Given the description of an element on the screen output the (x, y) to click on. 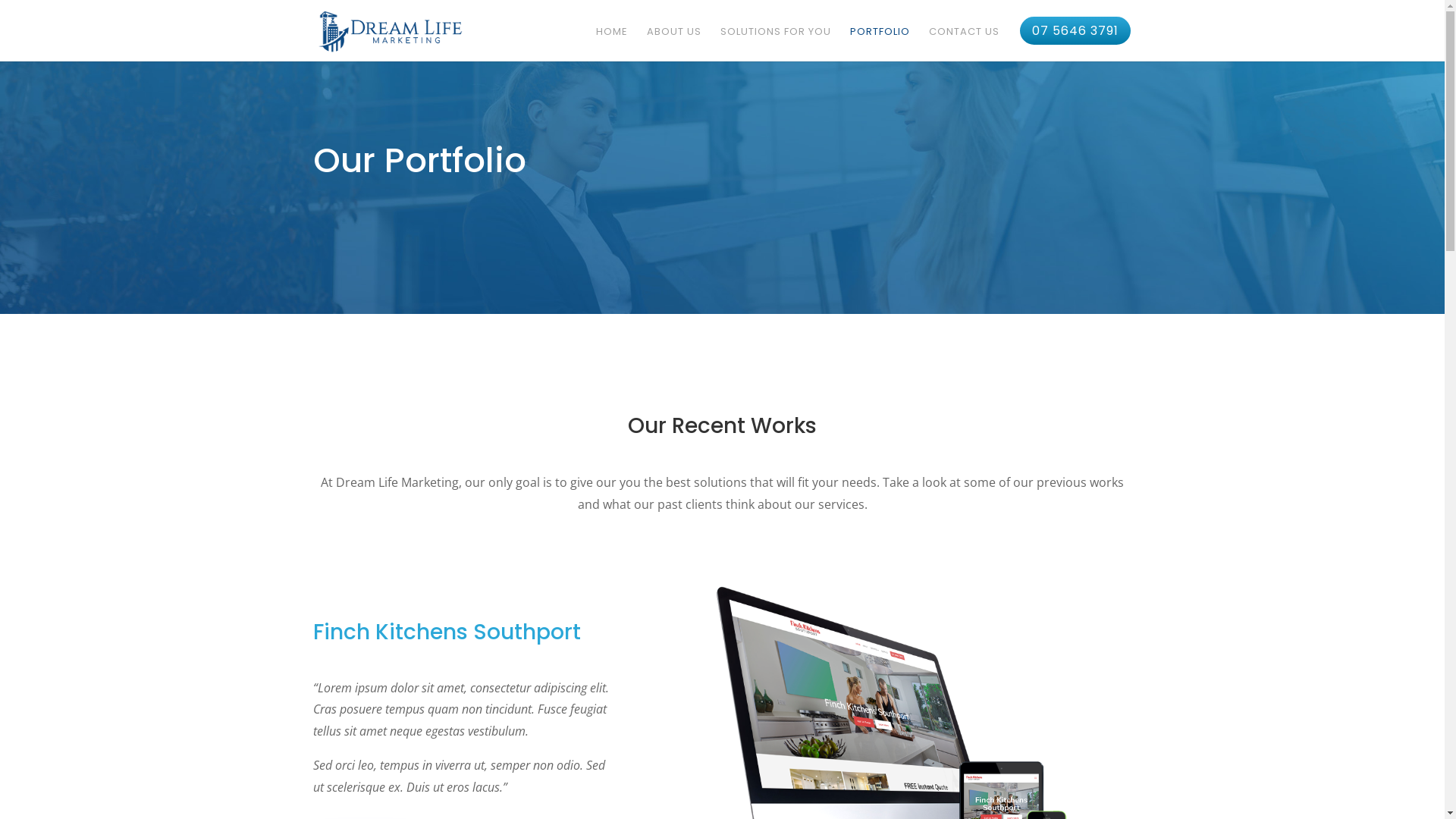
CONTACT US Element type: text (963, 39)
SOLUTIONS FOR YOU Element type: text (775, 39)
07 5646 3791 Element type: text (1074, 38)
ABOUT US Element type: text (673, 39)
HOME Element type: text (611, 39)
PORTFOLIO Element type: text (879, 39)
